Given the description of an element on the screen output the (x, y) to click on. 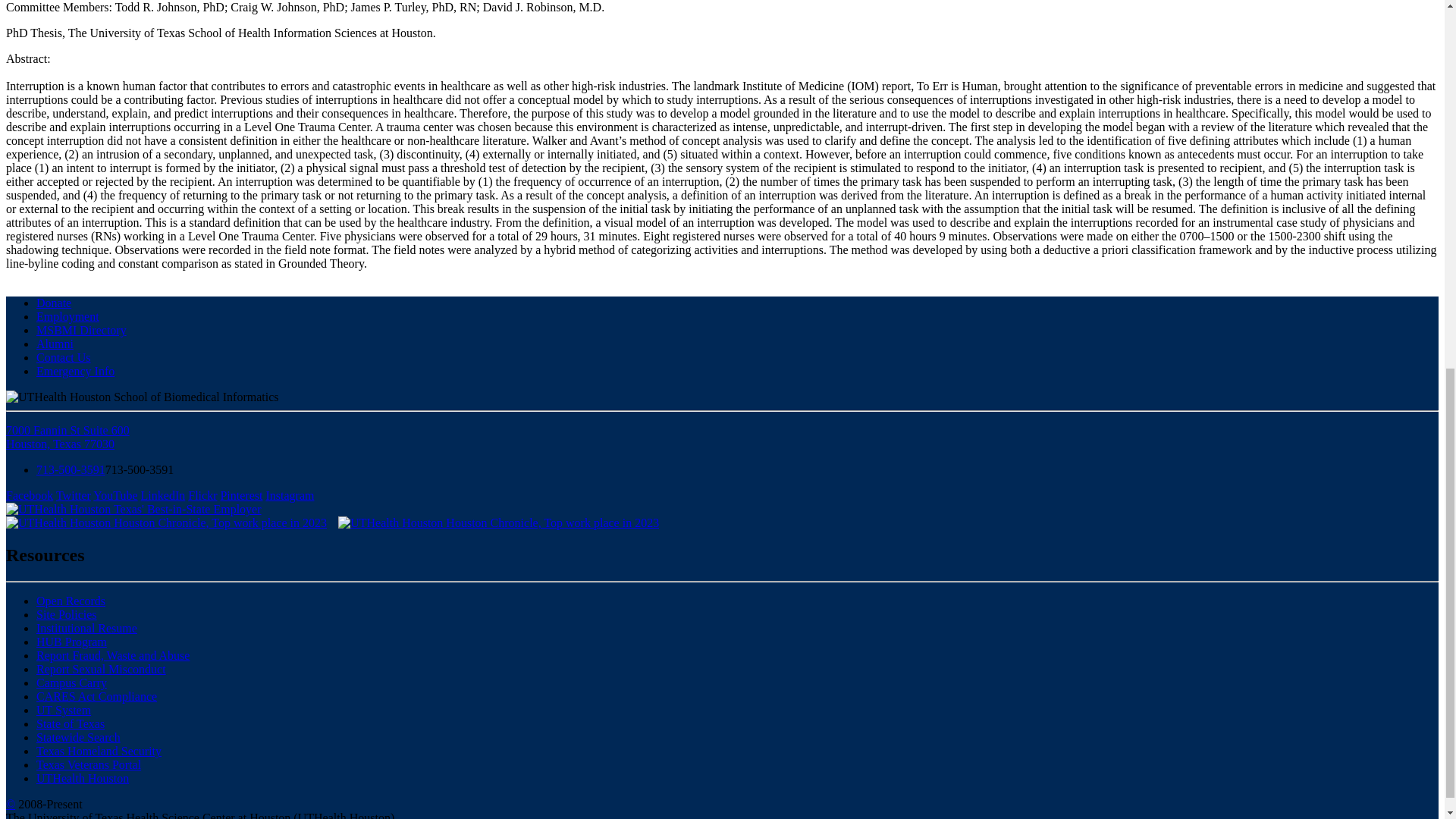
Alumni (55, 343)
linkedin (163, 495)
Twitter (73, 495)
flickr (201, 495)
MSBMI Directory (81, 329)
713-500-3591 (70, 469)
Emergency Info (75, 370)
Donate (53, 302)
twitter (73, 495)
Contact Us (63, 357)
facebook (28, 495)
Facebook (28, 495)
pinterest (240, 495)
Employment (67, 316)
